Given the description of an element on the screen output the (x, y) to click on. 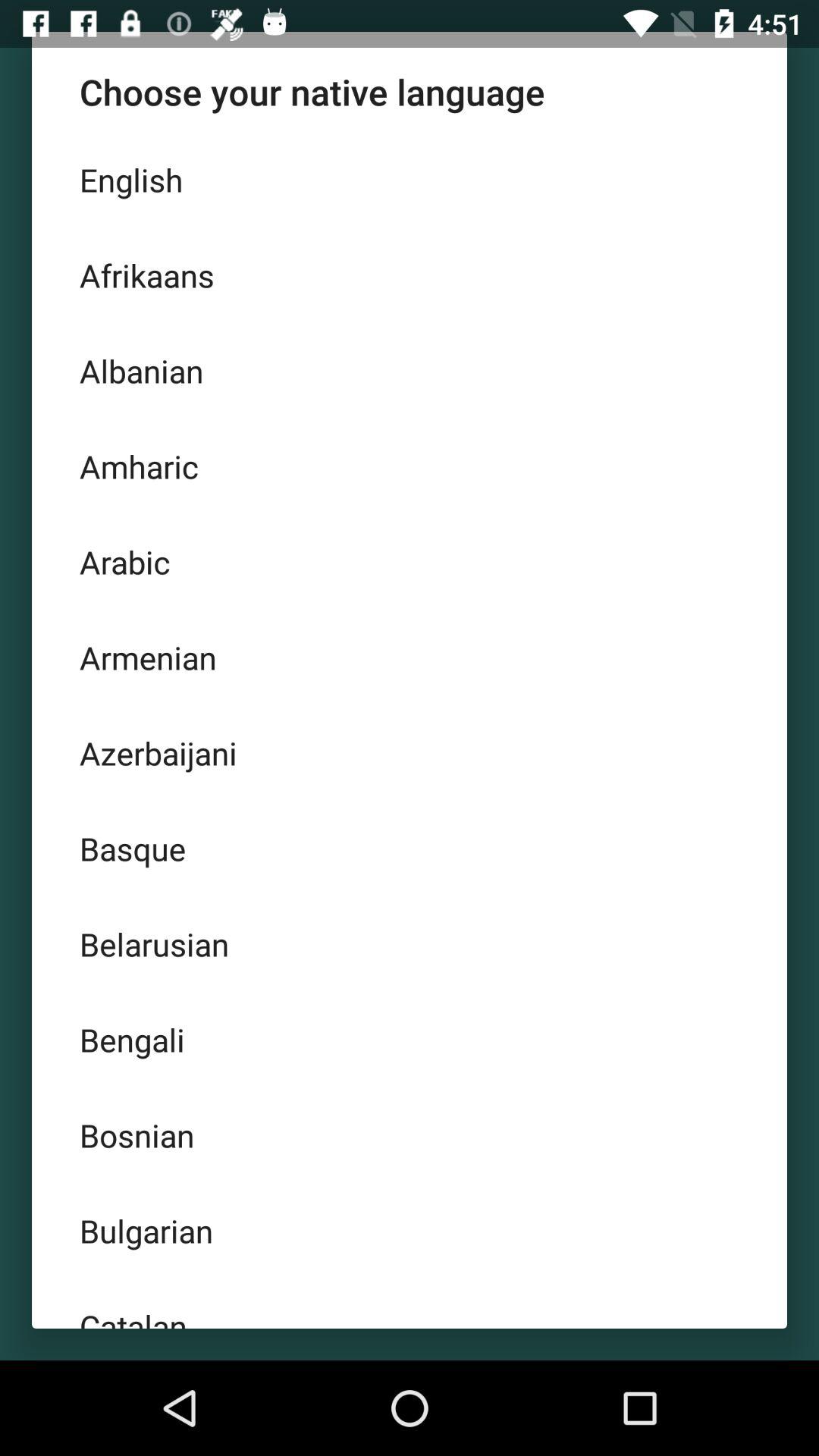
flip to the azerbaijani item (409, 752)
